Given the description of an element on the screen output the (x, y) to click on. 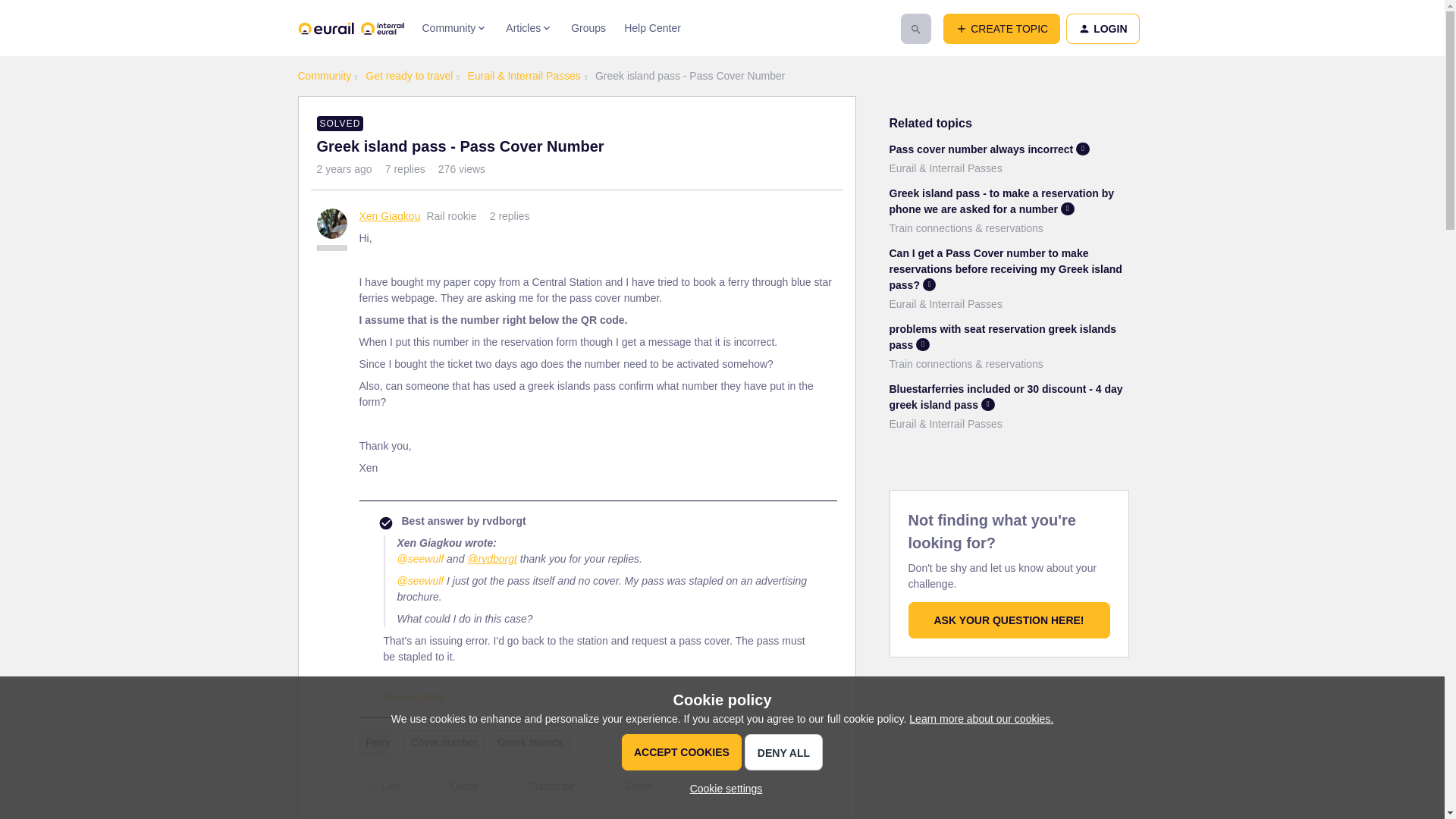
Rail rookie (451, 215)
Xen Giagkou (389, 216)
Get ready to travel (408, 75)
7 replies (405, 168)
View original (414, 696)
Ferry (378, 742)
Groups (587, 28)
LOGIN (1101, 28)
Community (323, 75)
CREATE TOPIC (1001, 28)
